Given the description of an element on the screen output the (x, y) to click on. 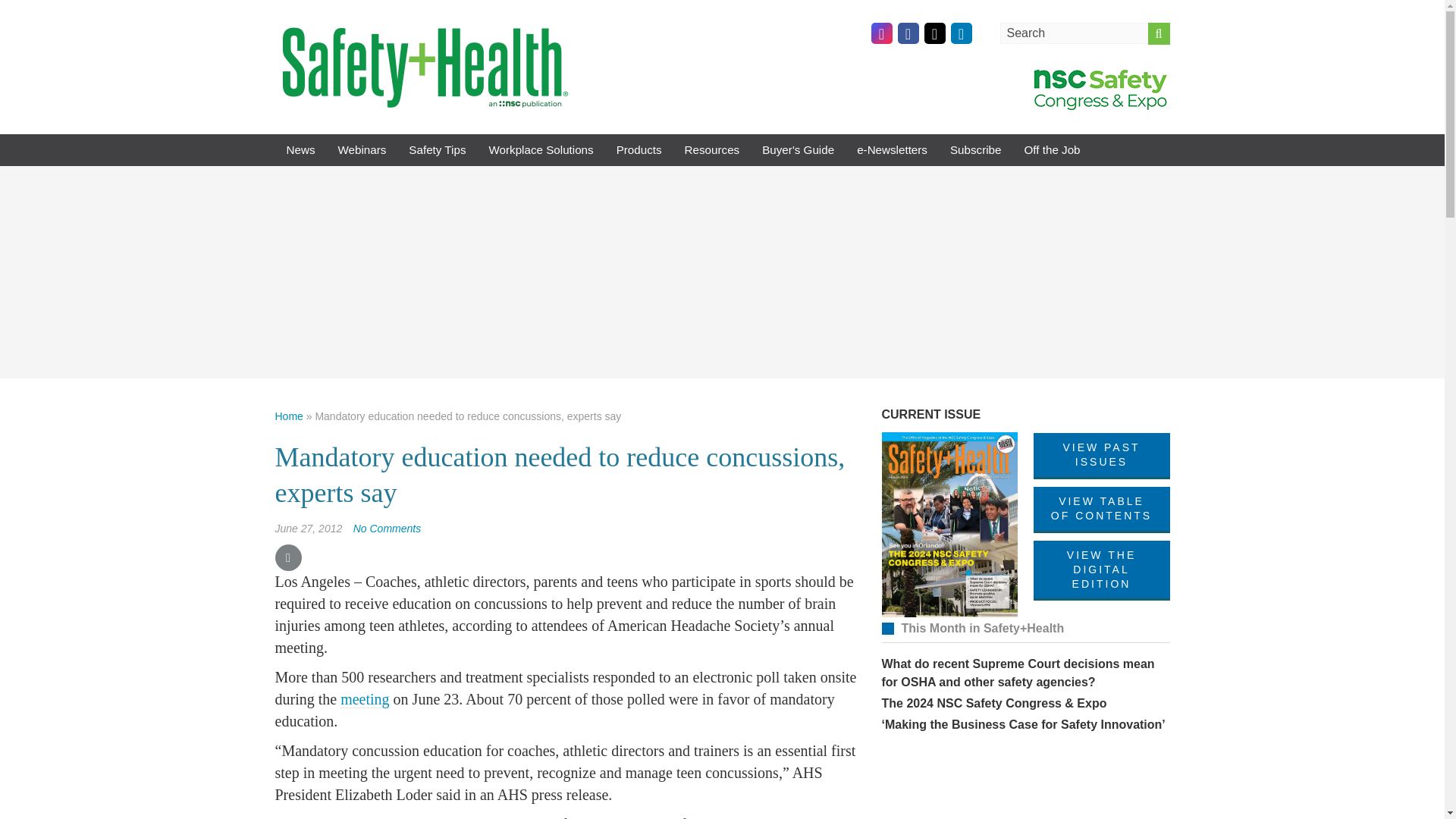
Safety Tips (437, 150)
News (300, 150)
Webinars (361, 150)
